Given the description of an element on the screen output the (x, y) to click on. 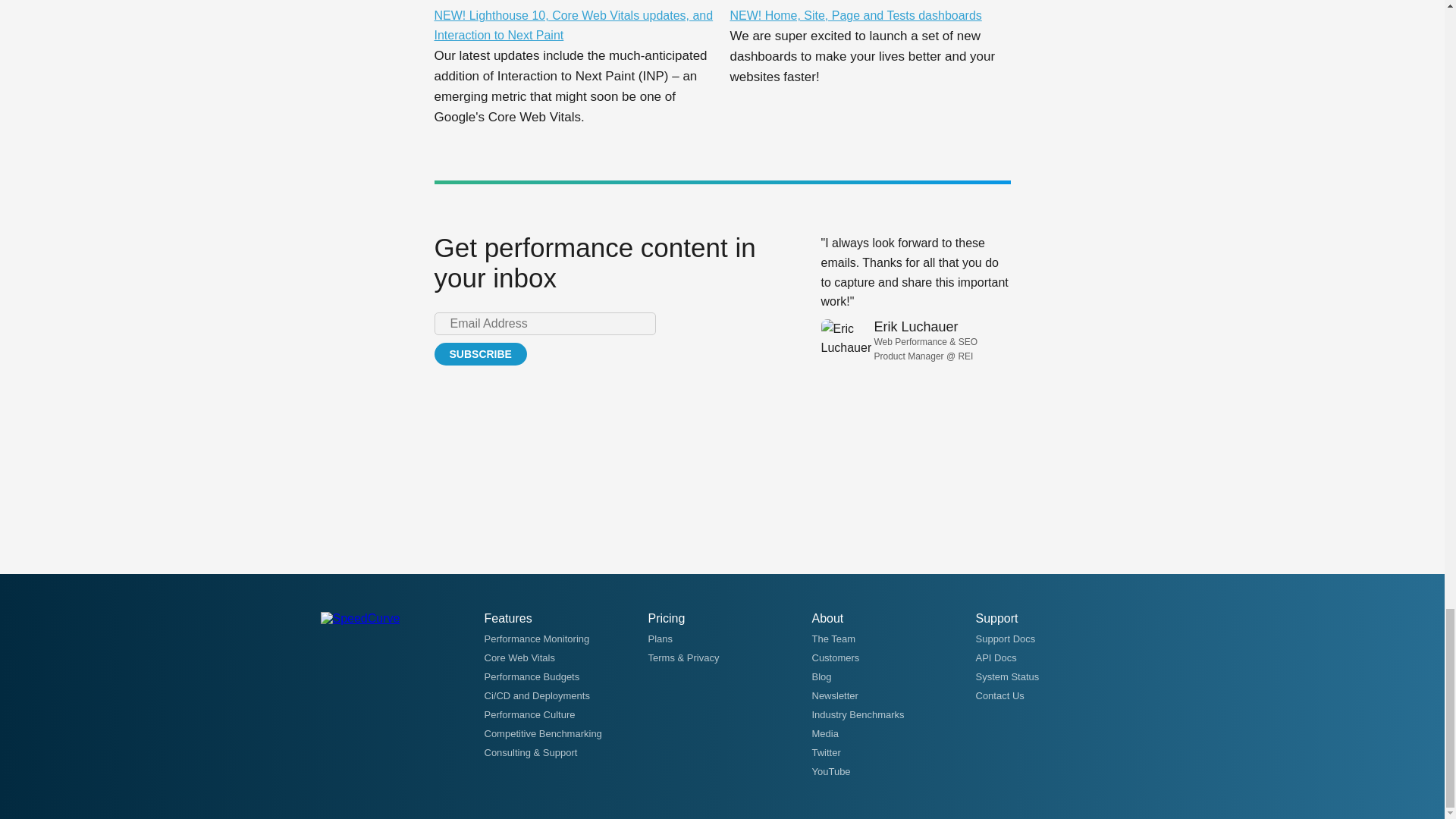
Subscribe (479, 354)
